Given the description of an element on the screen output the (x, y) to click on. 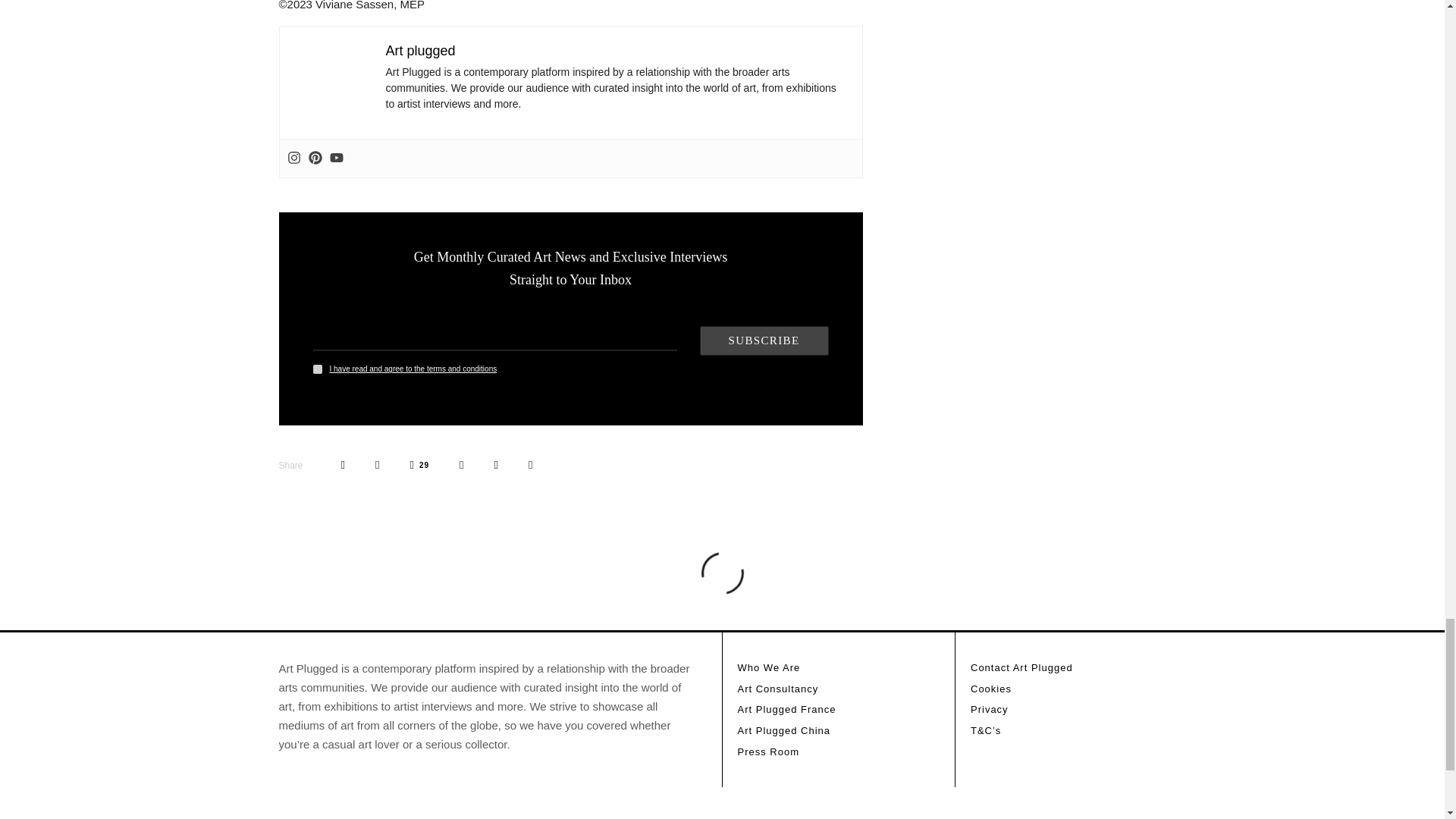
Subscribe (763, 340)
